Given the description of an element on the screen output the (x, y) to click on. 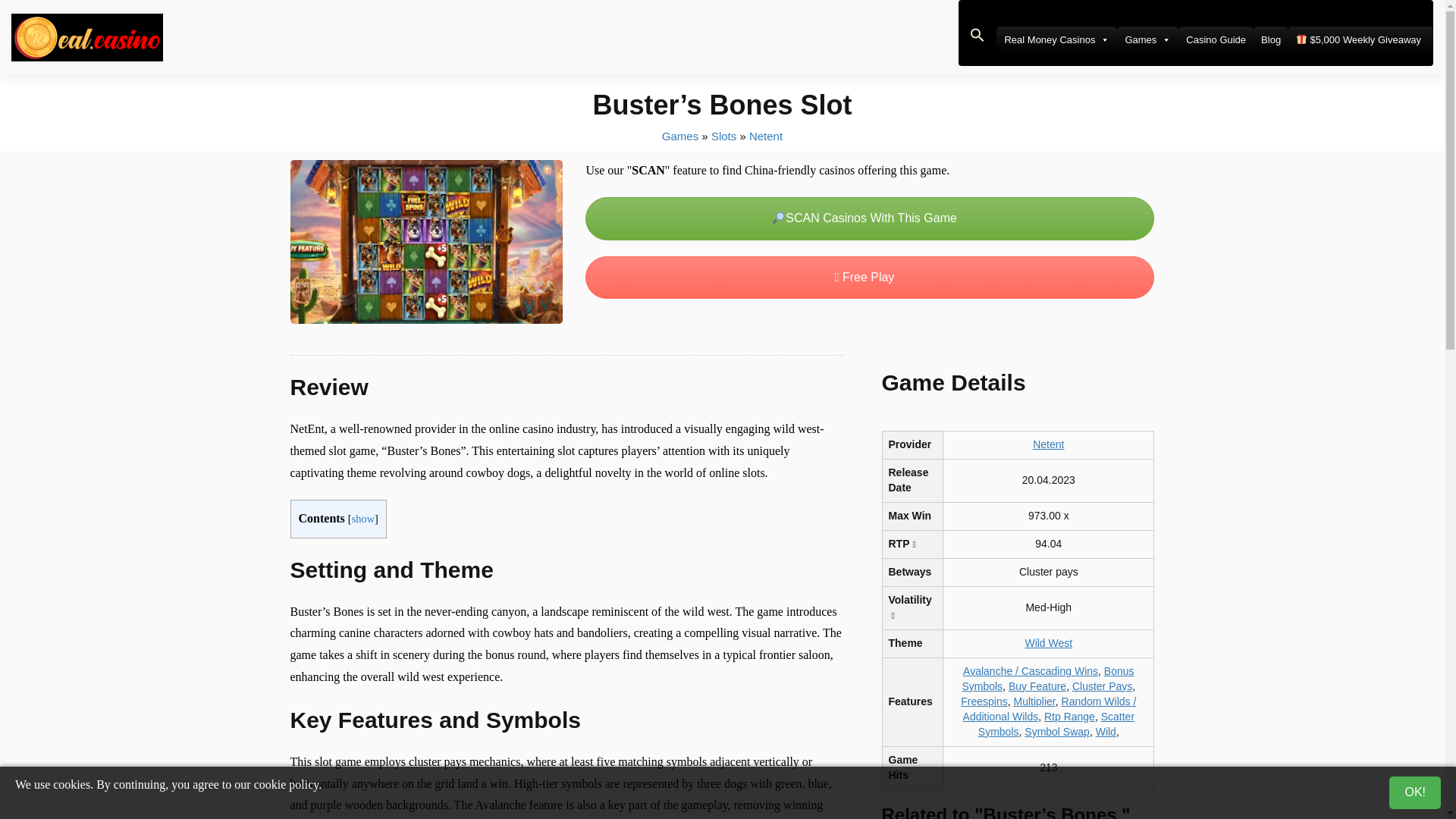
Netent Slots (766, 135)
Online Casino Games (680, 135)
Games (1146, 39)
Real Money Casinos (1055, 39)
Online Slots (723, 135)
